Given the description of an element on the screen output the (x, y) to click on. 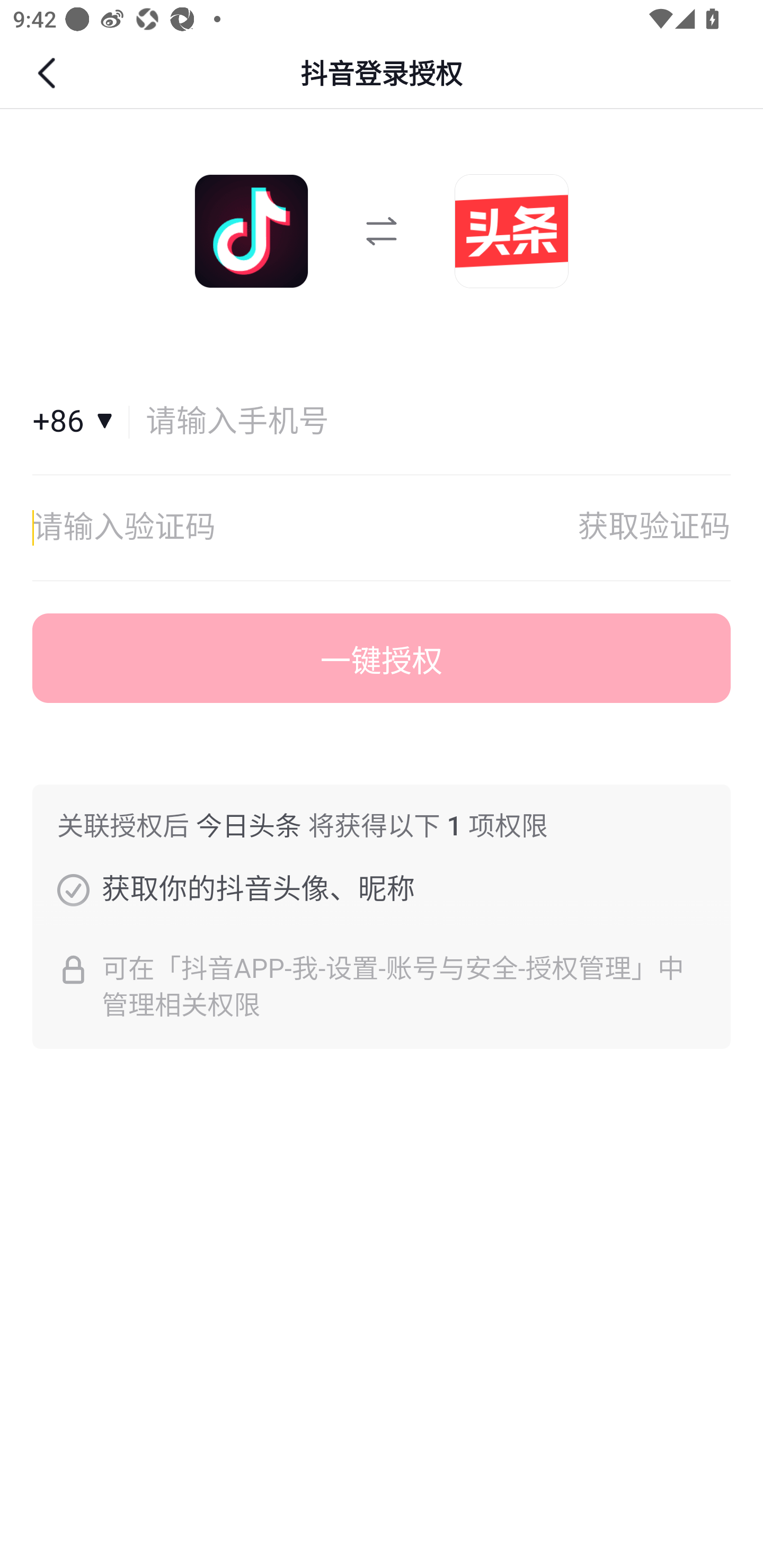
返回 (49, 72)
国家和地区+86 (81, 421)
获取验证码 (653, 527)
一键授权 (381, 658)
获取你的抖音头像、昵称 (72, 889)
